Given the description of an element on the screen output the (x, y) to click on. 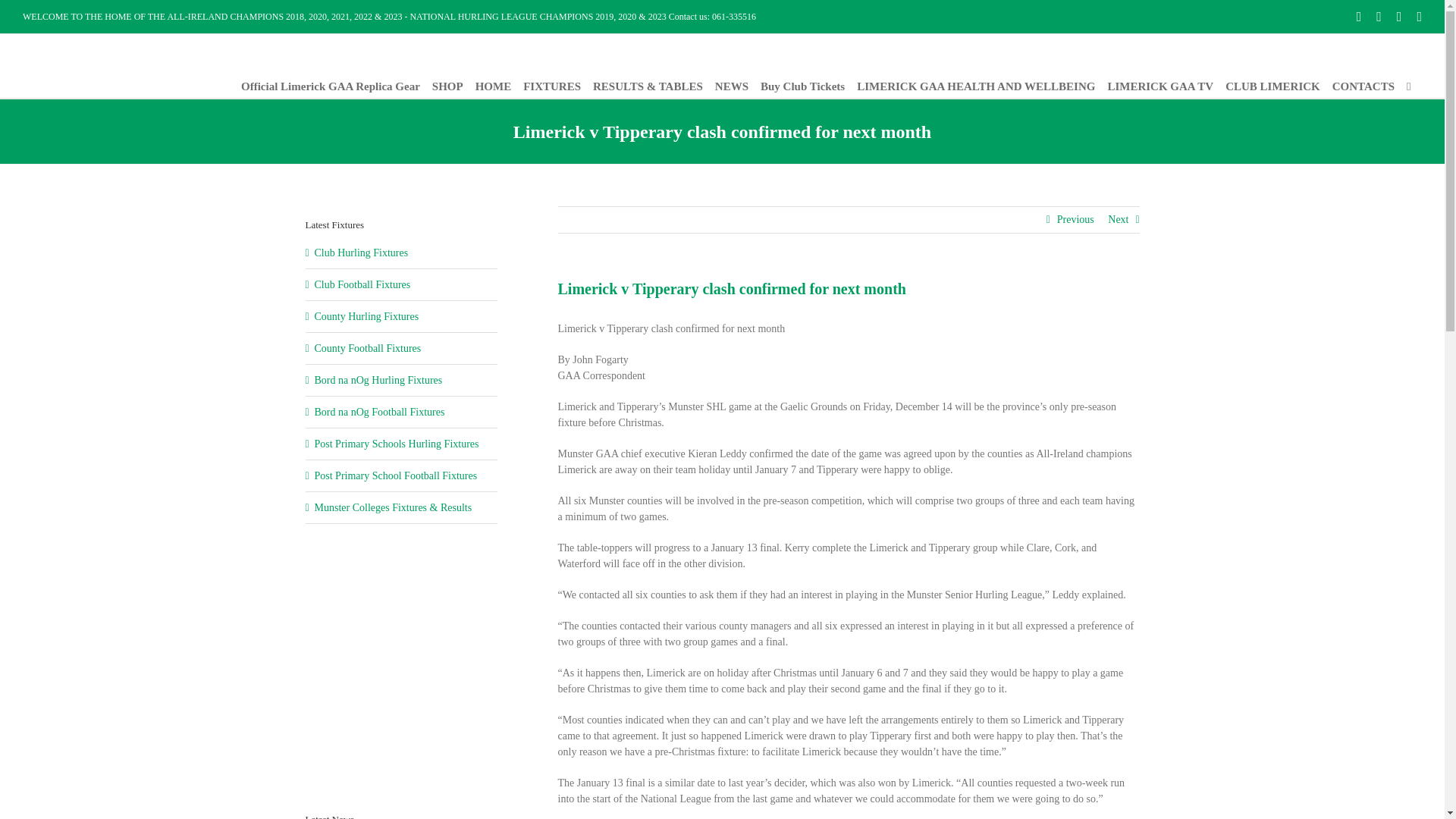
Buy Club Tickets (802, 85)
Official Limerick GAA Replica Gear (330, 85)
LIMERICK GAA HEALTH AND WELLBEING (975, 85)
FIXTURES (551, 85)
